Given the description of an element on the screen output the (x, y) to click on. 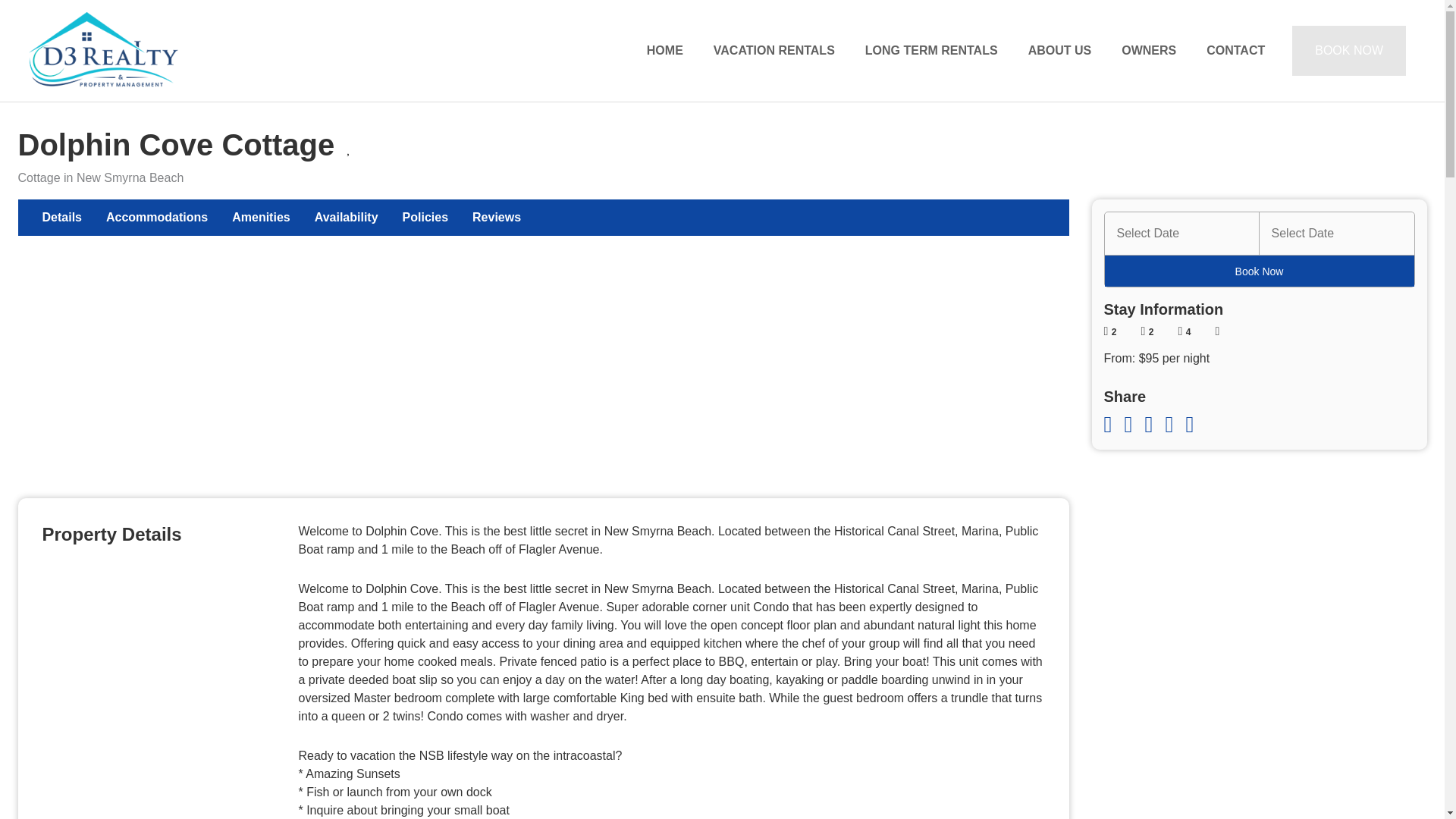
VACATION RENTALS (774, 50)
Print page (1195, 424)
Share through email (1154, 424)
Book Now (1258, 270)
Amenities (260, 217)
Availability (346, 217)
LONG TERM RENTALS (931, 50)
Share on x (1134, 424)
BOOK NOW (1349, 50)
Copy link (1174, 424)
Reviews (496, 217)
Share on twitter (1134, 424)
ABOUT US (1059, 50)
Copy Link (1174, 424)
Share on facebook (1113, 424)
